Given the description of an element on the screen output the (x, y) to click on. 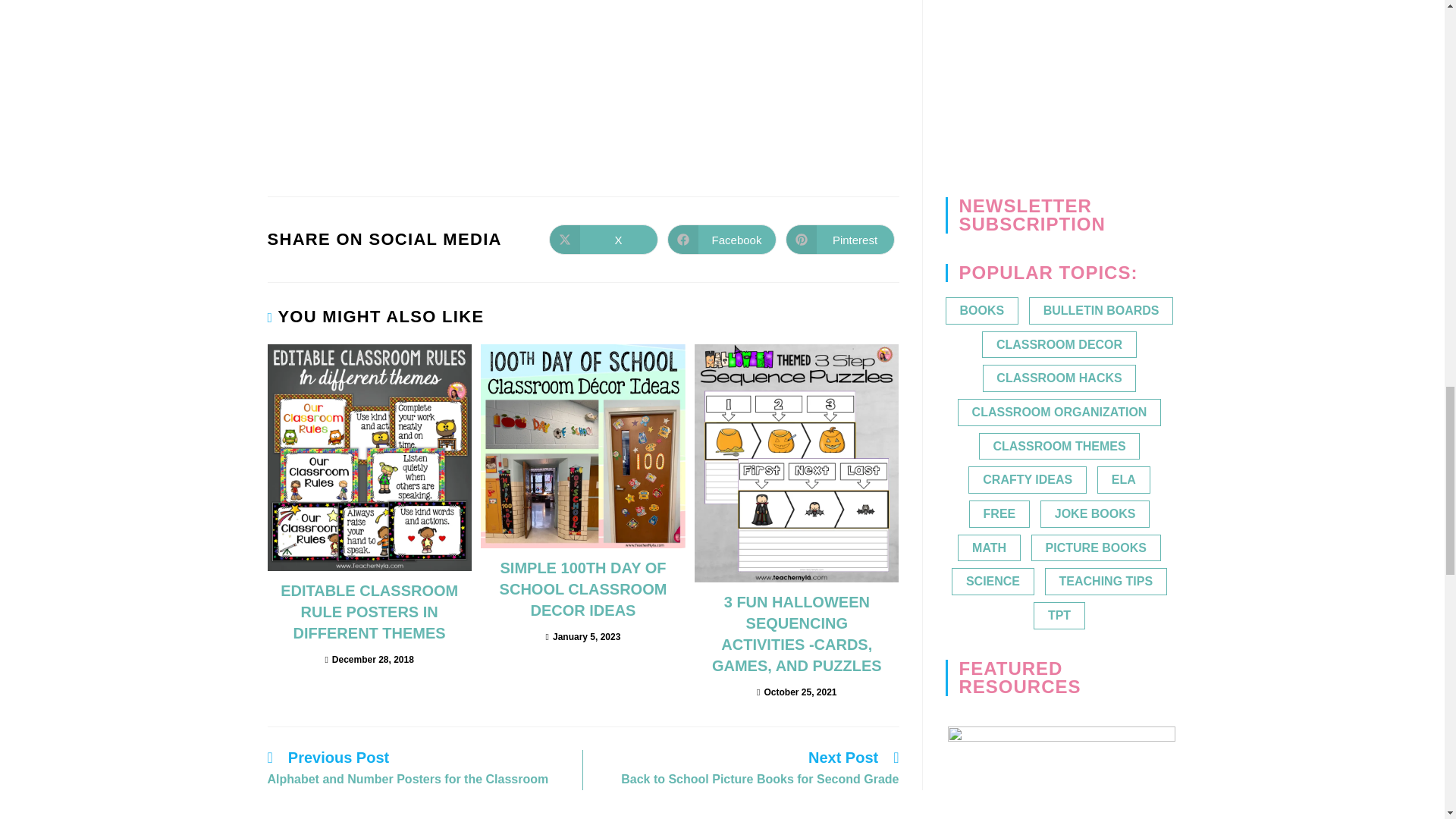
Simple 100th Day of School Classroom Decor Ideas 12 (582, 445)
Back to School Riddle Bookmarks for Kids 9 (380, 86)
Editable Classroom Rule Posters in Different Themes 11 (368, 456)
